Given the description of an element on the screen output the (x, y) to click on. 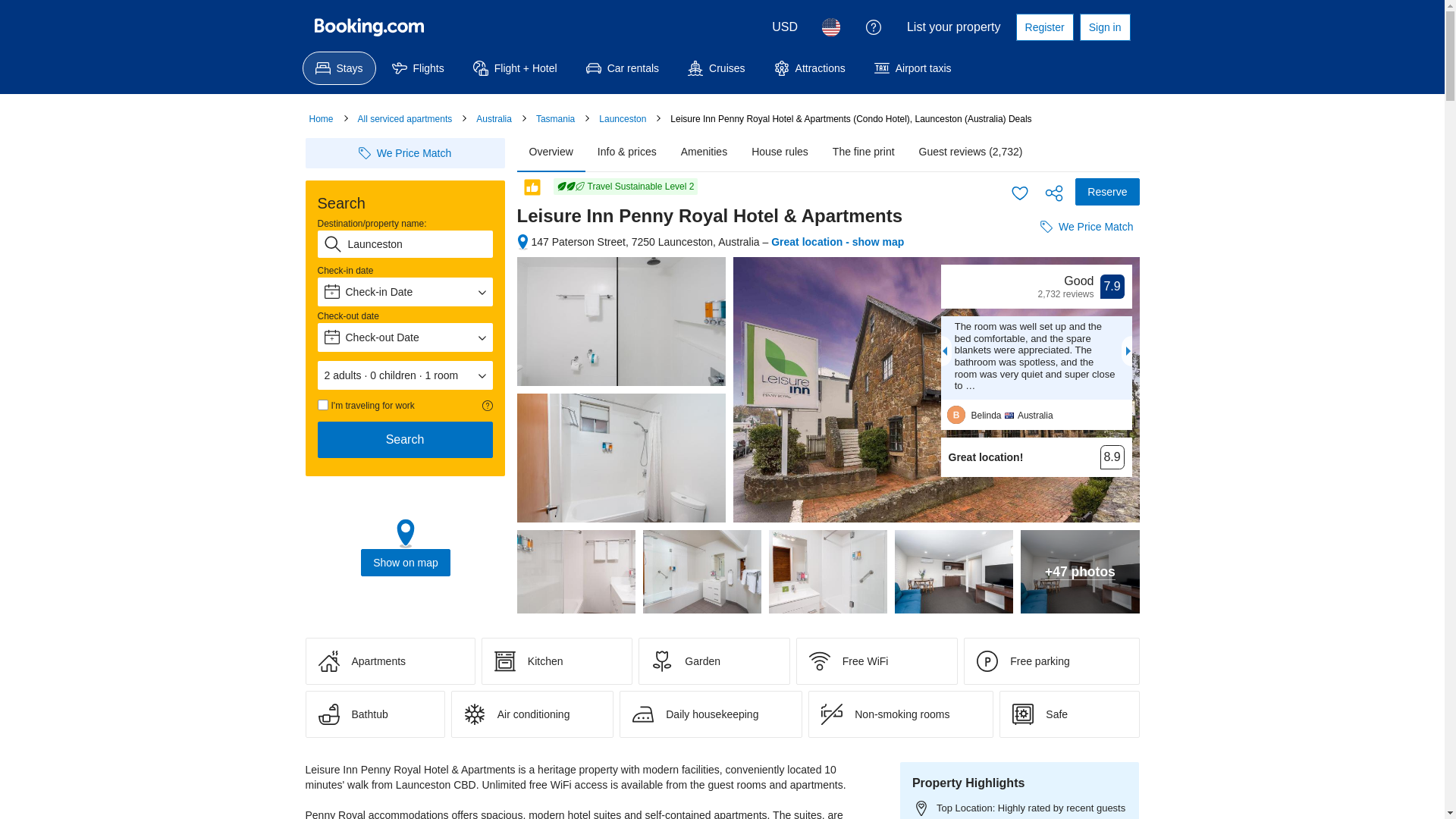
Australia Element type: text (493, 118)
Great location - show map Element type: text (837, 241)
Overview Element type: text (551, 151)
+
Check-in Date Element type: text (404, 291)
+
Check-out Date Element type: text (404, 337)
Reserve Element type: text (1107, 191)
Flights Element type: text (418, 67)
Airport taxis Element type: text (912, 67)
House rules Element type: text (779, 151)
7.9
Good
2,732 reviews Element type: text (1035, 286)
Car rentals Element type: text (622, 67)
Register Element type: text (1044, 26)
+47 photos Element type: text (1079, 571)
Home Element type: text (321, 118)
Sign in Element type: text (1104, 26)
Show on map Element type: text (405, 562)
The fine print Element type: text (863, 151)
Search Element type: text (404, 439)
Amenities Element type: text (703, 151)
Show on map Element type: text (404, 548)
Cruises Element type: text (715, 67)
USD Element type: text (784, 27)
All serviced apartments Element type: text (404, 118)
Launceston Element type: text (622, 118)
Tasmania Element type: text (555, 118)
Flight + Hotel Element type: text (515, 67)
Info & prices Element type: text (626, 151)
Stays Element type: text (338, 67)
List your property Element type: text (953, 27)
We Price Match Element type: text (405, 152)
We Price Match Element type: text (1086, 226)
Guest reviews (2,732) Element type: text (970, 151)
Attractions Element type: text (809, 67)
